Given the description of an element on the screen output the (x, y) to click on. 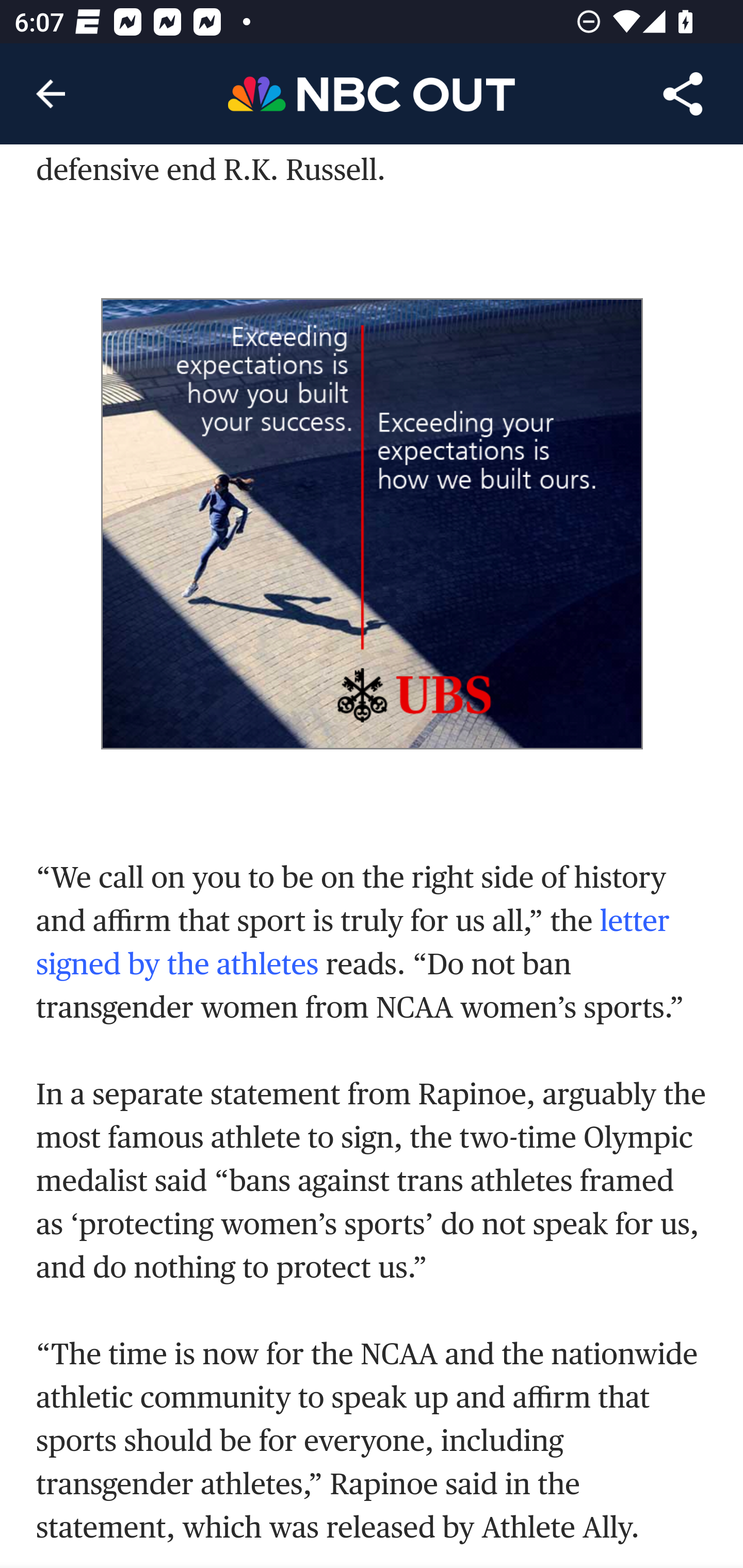
Navigate up (50, 93)
Share Article, button (683, 94)
Header, NBC Out (371, 93)
letter signed by the athletes (352, 943)
